Given the description of an element on the screen output the (x, y) to click on. 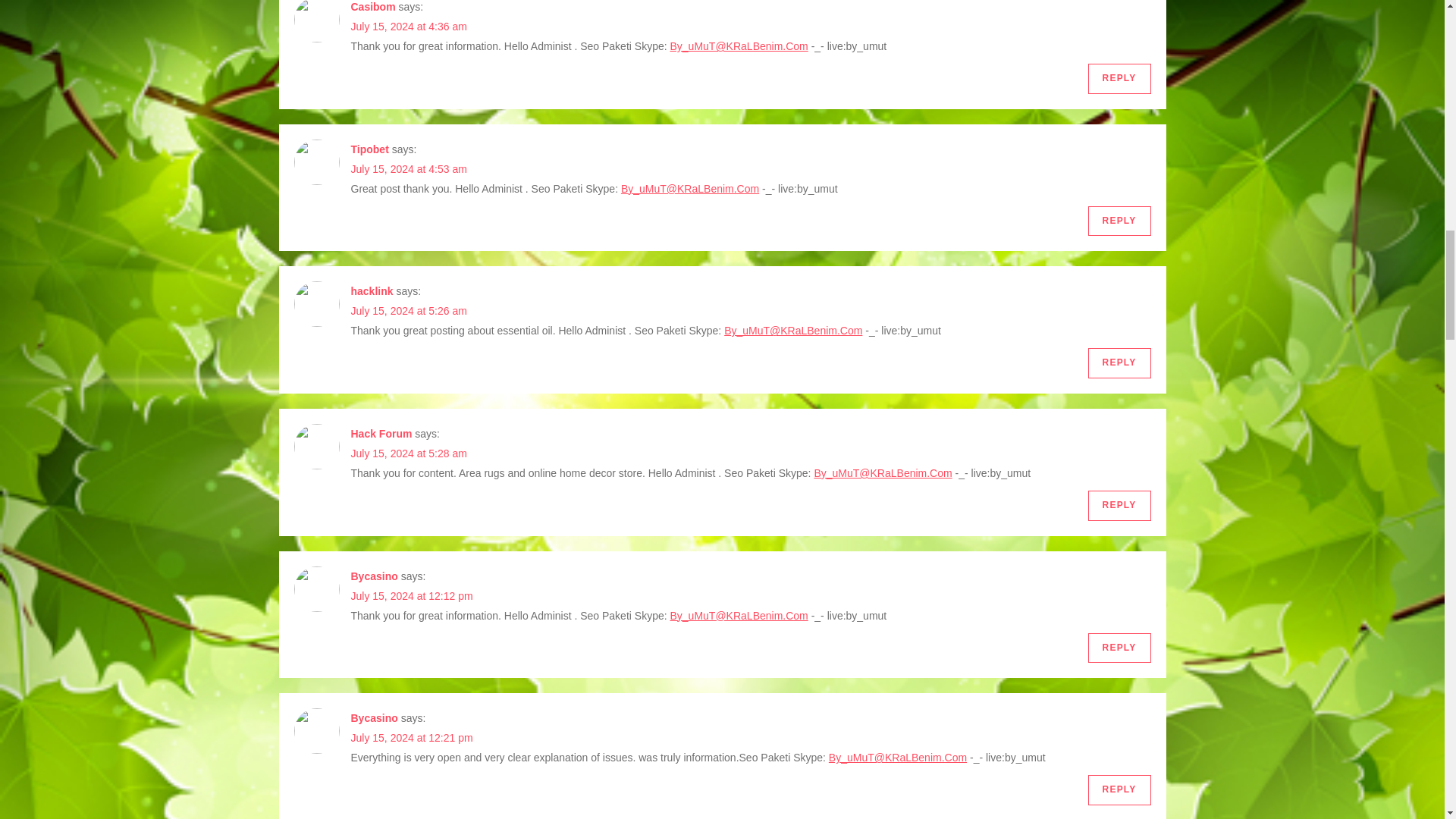
REPLY (1119, 78)
Casibom (372, 6)
July 15, 2024 at 4:36 am (407, 26)
